Given the description of an element on the screen output the (x, y) to click on. 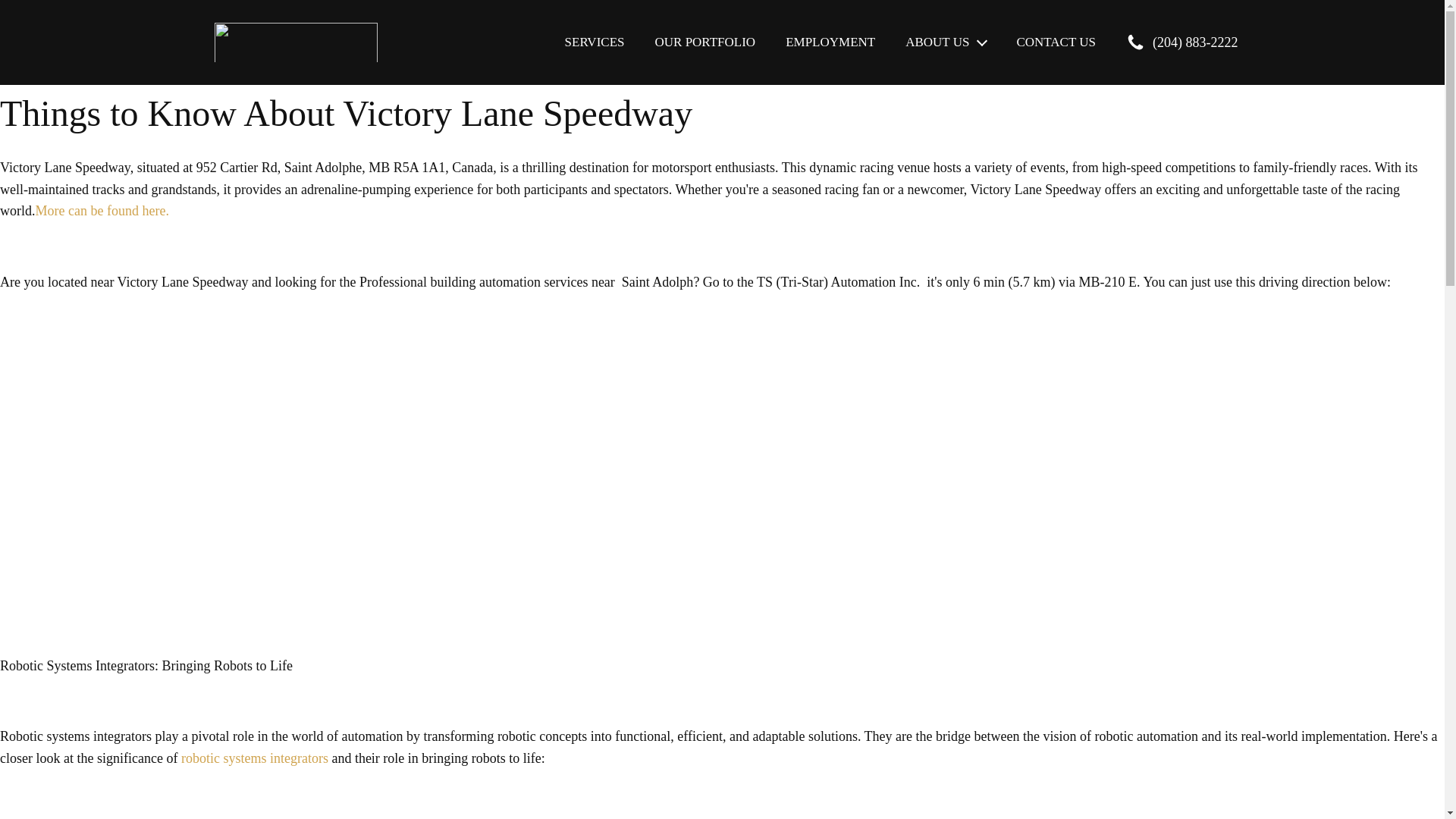
robotic systems integrators (254, 758)
OUR PORTFOLIO (704, 41)
CONTACT US (1048, 41)
ABOUT US (945, 41)
More can be found here. (101, 210)
EMPLOYMENT (829, 41)
SERVICES (595, 41)
